Given the description of an element on the screen output the (x, y) to click on. 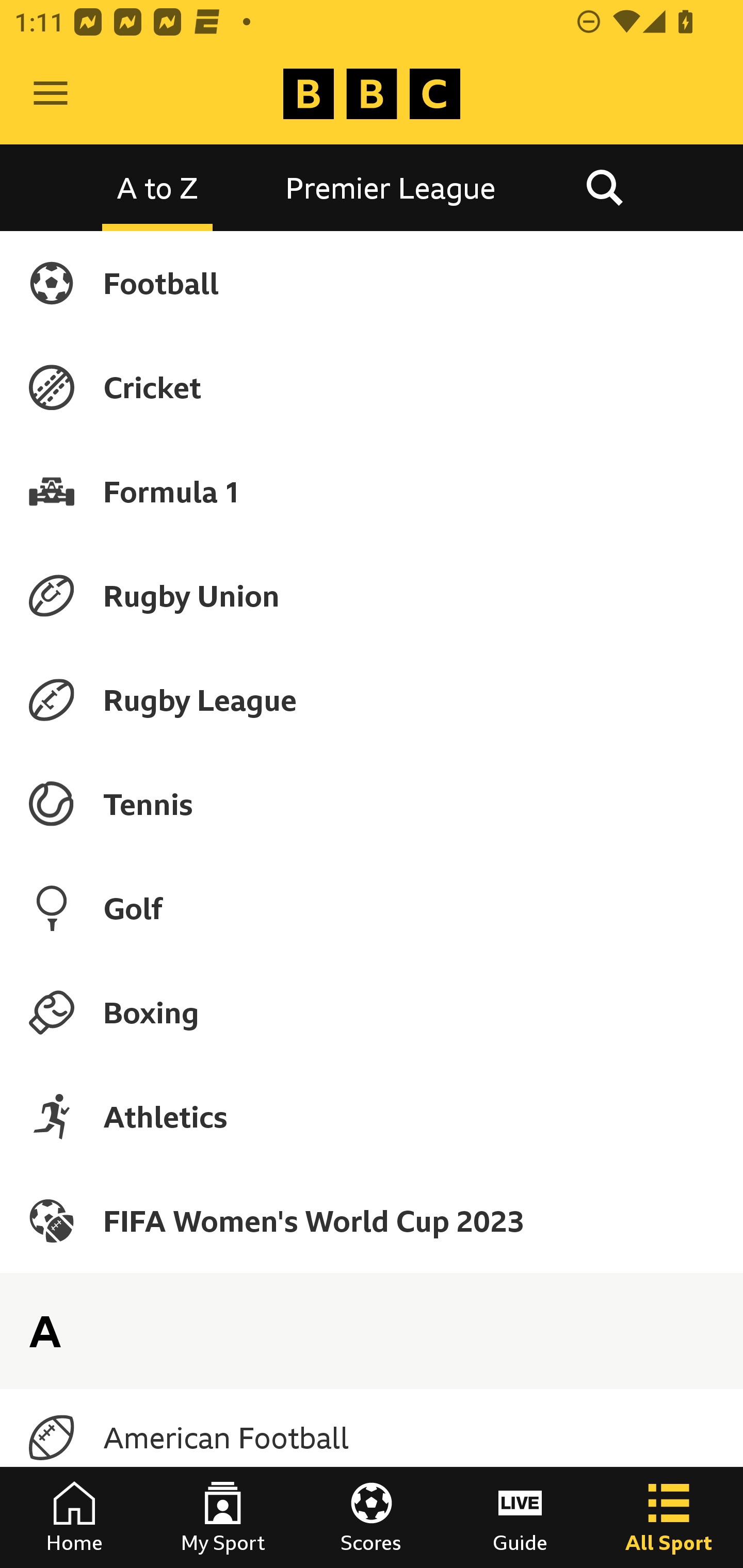
Open Menu (50, 93)
Premier League (390, 187)
Search (604, 187)
Football (371, 282)
Cricket (371, 387)
Formula 1 (371, 491)
Rugby Union (371, 595)
Rugby League (371, 699)
Tennis (371, 804)
Golf (371, 907)
Boxing (371, 1011)
Athletics (371, 1116)
FIFA Women's World Cup 2023 (371, 1220)
American Football (371, 1437)
Home (74, 1517)
My Sport (222, 1517)
Scores (371, 1517)
Guide (519, 1517)
